Given the description of an element on the screen output the (x, y) to click on. 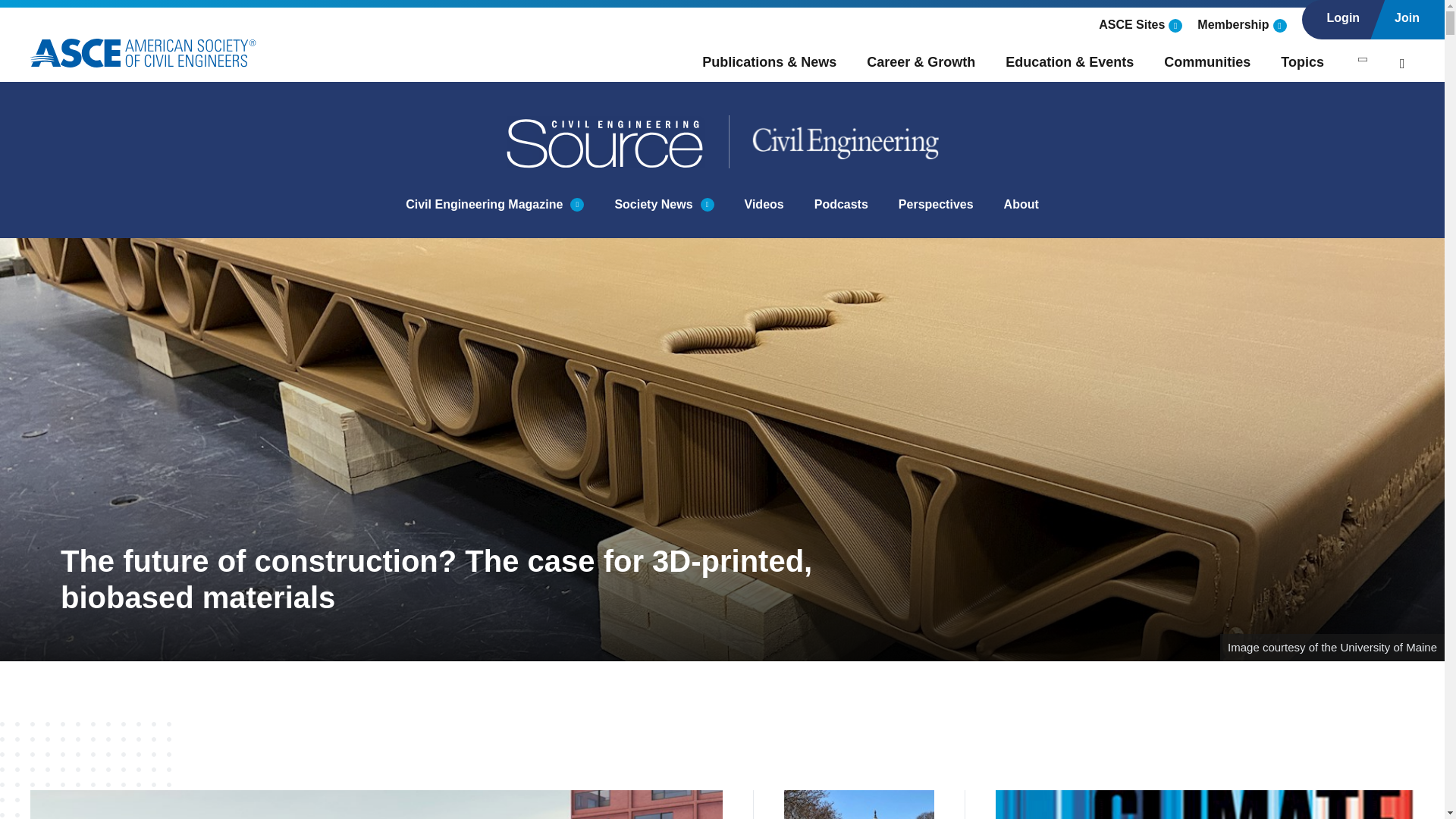
Podcasts (840, 204)
Videos (764, 204)
Civil Engineering (834, 141)
About (1021, 204)
Civil Engineering Source (606, 141)
Civil Engineering Magazine (484, 204)
